Given the description of an element on the screen output the (x, y) to click on. 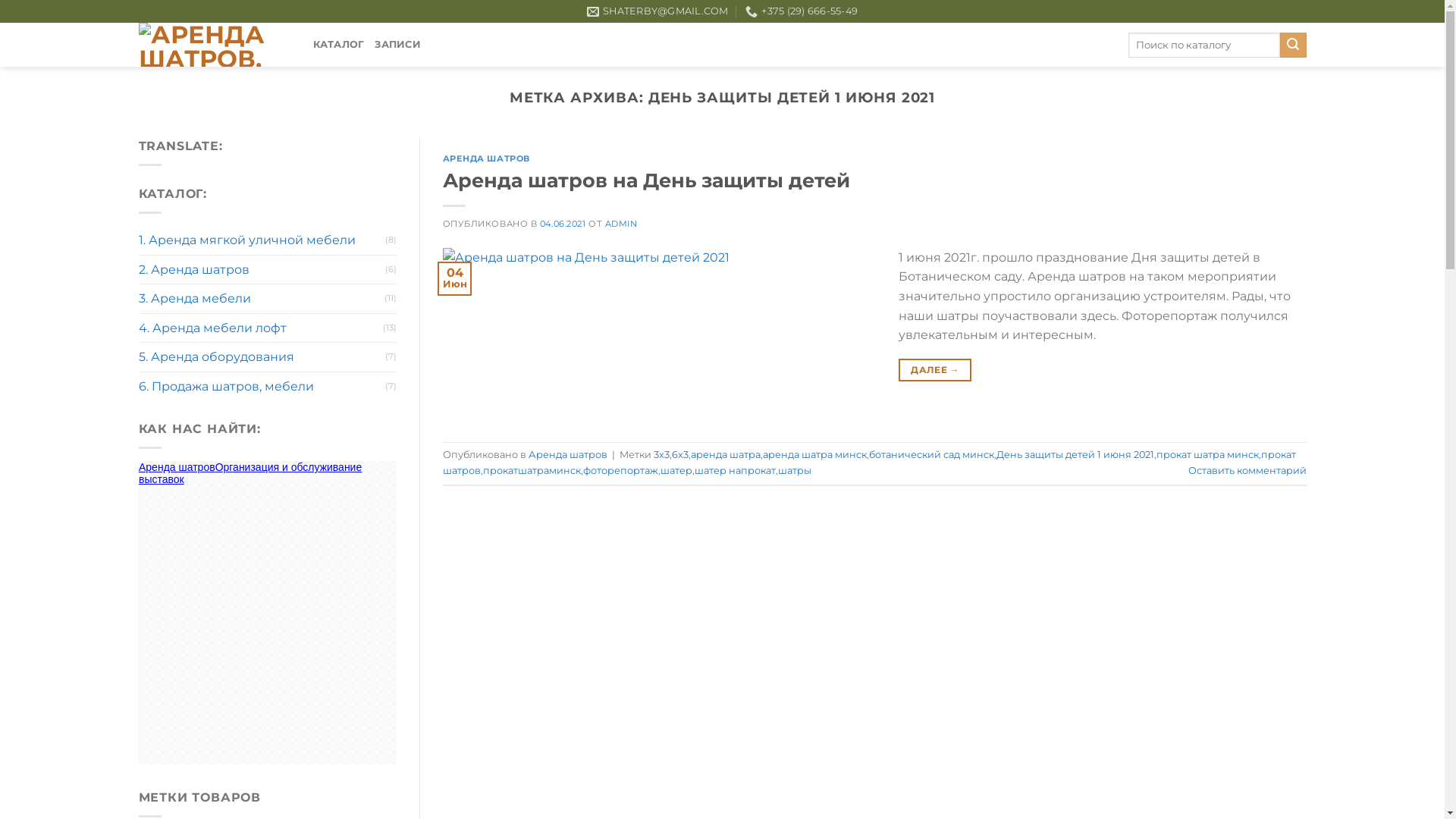
04.06.2021 Element type: text (562, 223)
+375 (29) 666-55-49 Element type: text (801, 11)
SHATERBY@GMAIL.COM Element type: text (657, 11)
ADMIN Element type: text (621, 223)
